Given the description of an element on the screen output the (x, y) to click on. 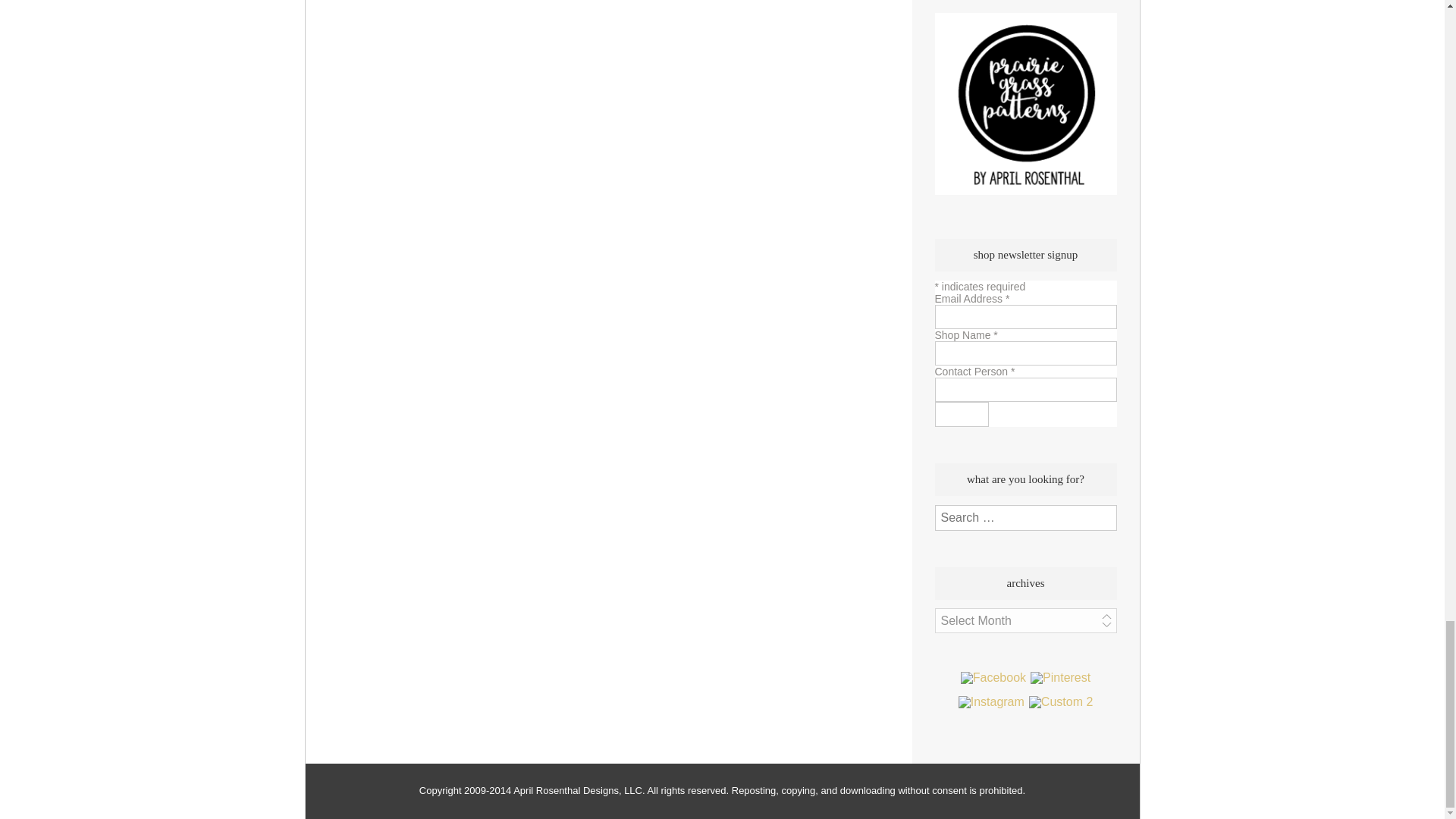
Subscribe (961, 414)
